Given the description of an element on the screen output the (x, y) to click on. 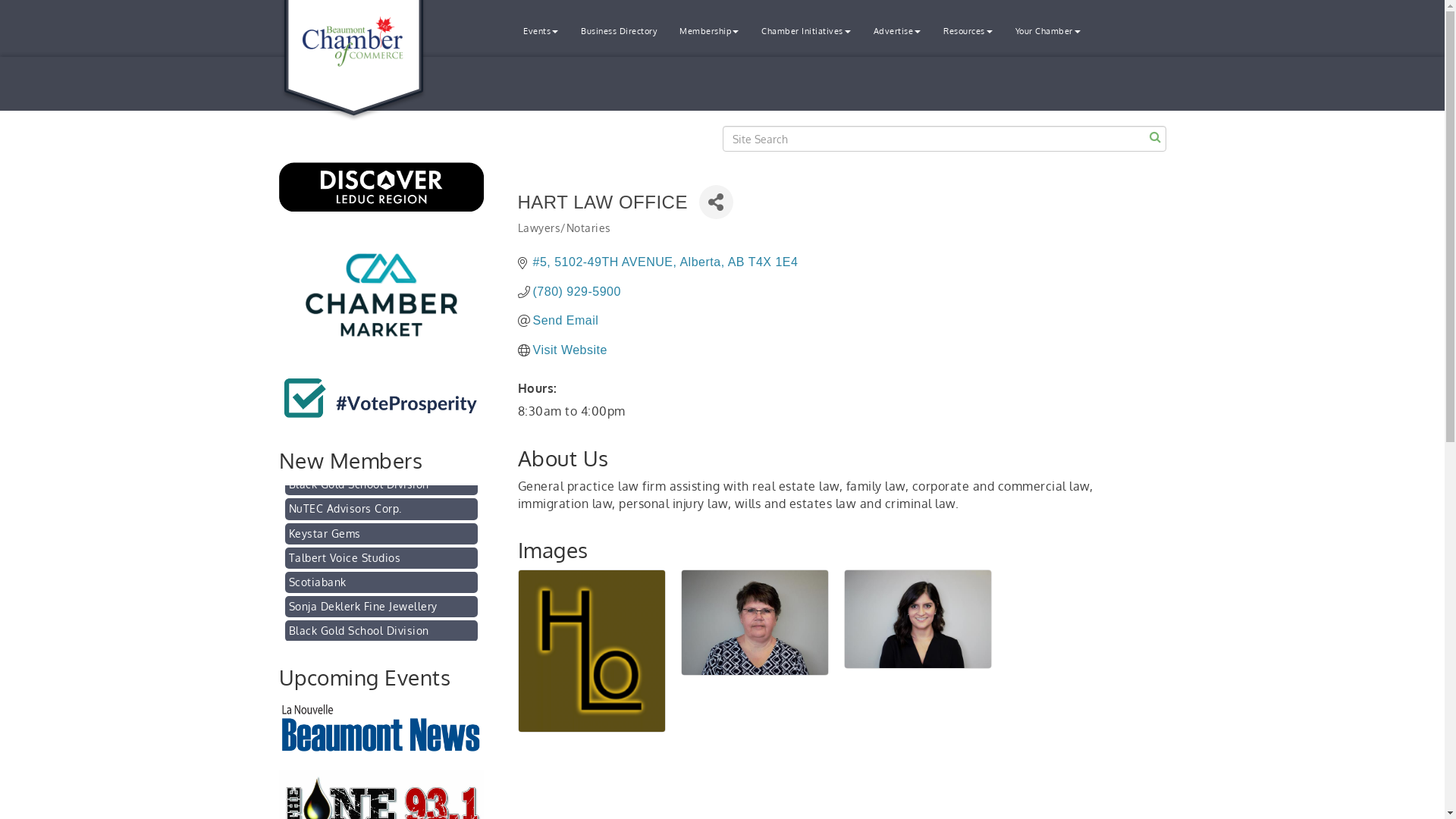
Your Chamber Element type: text (1048, 31)
Send Email Element type: text (565, 320)
Chamber Initiatives Element type: text (805, 31)
Scotiabank Element type: text (381, 605)
Membership Element type: text (708, 31)
Black Gold School Division Element type: text (381, 509)
NuTEC Advisors Corp. Element type: text (381, 533)
Search Element type: hover (1155, 136)
Sonja Deklerk Fine Jewellery Element type: text (381, 485)
Shilpa Jaswal, Barrister & Solicitor at Hart Law Office  Element type: hover (917, 619)
Business Directory Element type: text (618, 31)
Keystar Gems Element type: text (381, 558)
Glenda Hart, Barrister & Solicitor at Hart Law Office  Element type: hover (753, 622)
Hart Law Office  Element type: hover (591, 650)
#5, 5102-49TH AVENUE Alberta AB T4X 1E4 Element type: text (664, 261)
Talbert Voice Studios Element type: text (381, 582)
Visit Website Element type: text (569, 349)
Sonja Deklerk Fine Jewellery Element type: text (381, 629)
Events Element type: text (540, 31)
(780) 929-5900 Element type: text (576, 291)
Resources Element type: text (967, 31)
Advertise Element type: text (896, 31)
